Given the description of an element on the screen output the (x, y) to click on. 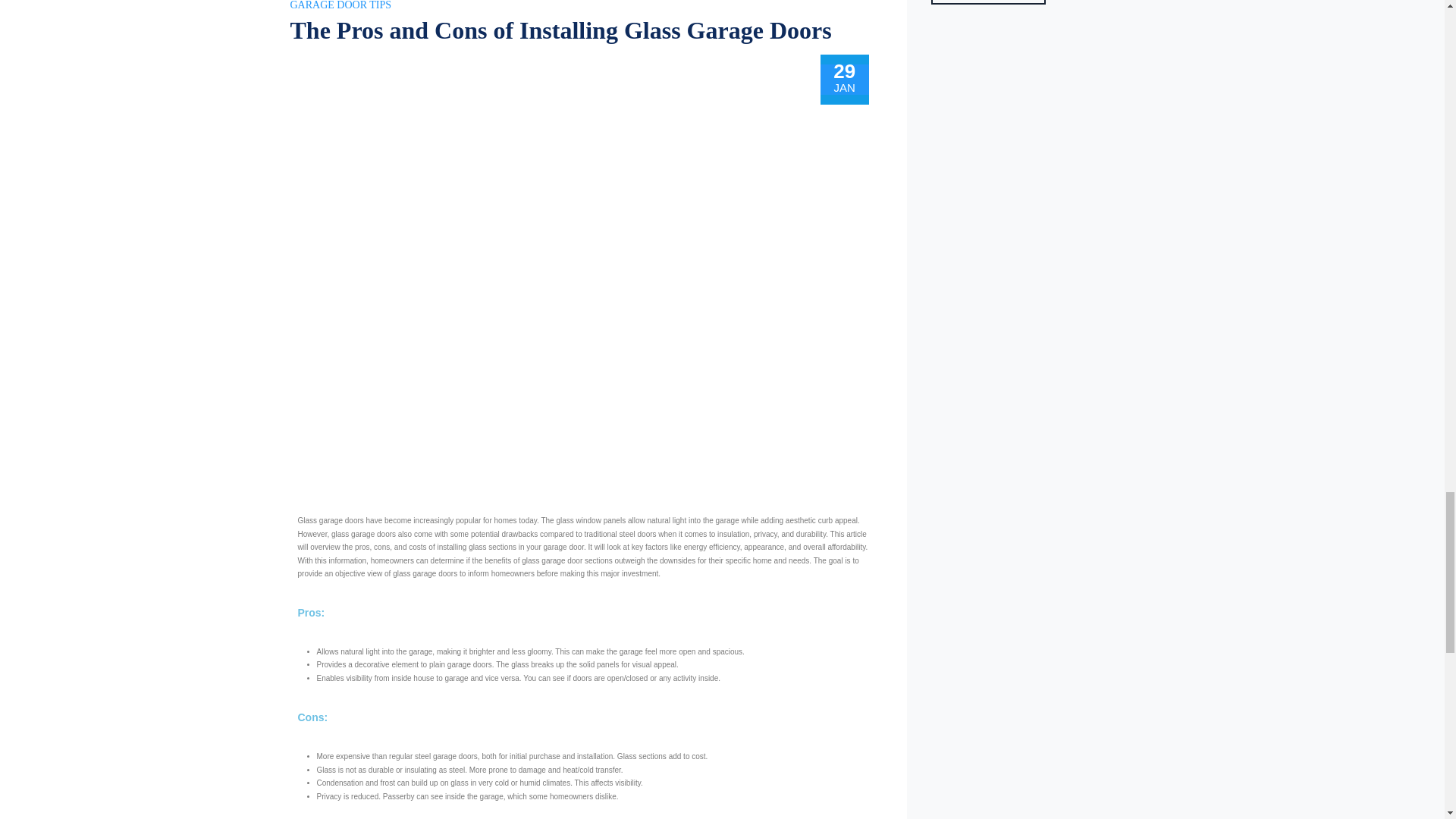
GARAGE DOOR TIPS (340, 4)
The Pros and Cons of Installing Glass Garage Doors (560, 30)
